Given the description of an element on the screen output the (x, y) to click on. 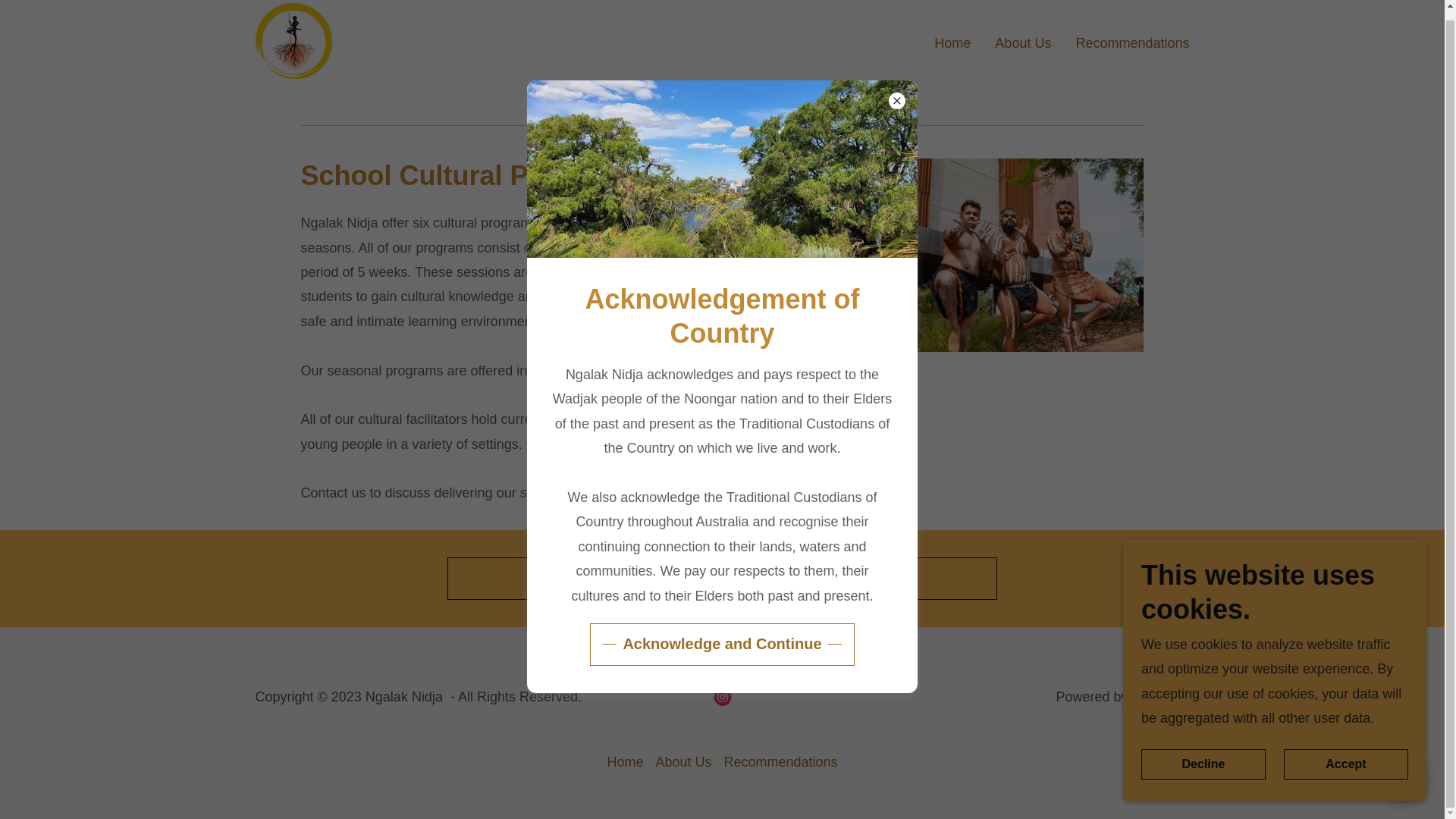
About Us (683, 762)
Home (952, 41)
Decline (1203, 755)
About Us (1022, 41)
Recommendations (780, 762)
Return Home (721, 578)
Acknowledge and Continue (721, 635)
Home (624, 762)
Accept (1345, 755)
Recommendations (1131, 41)
